Given the description of an element on the screen output the (x, y) to click on. 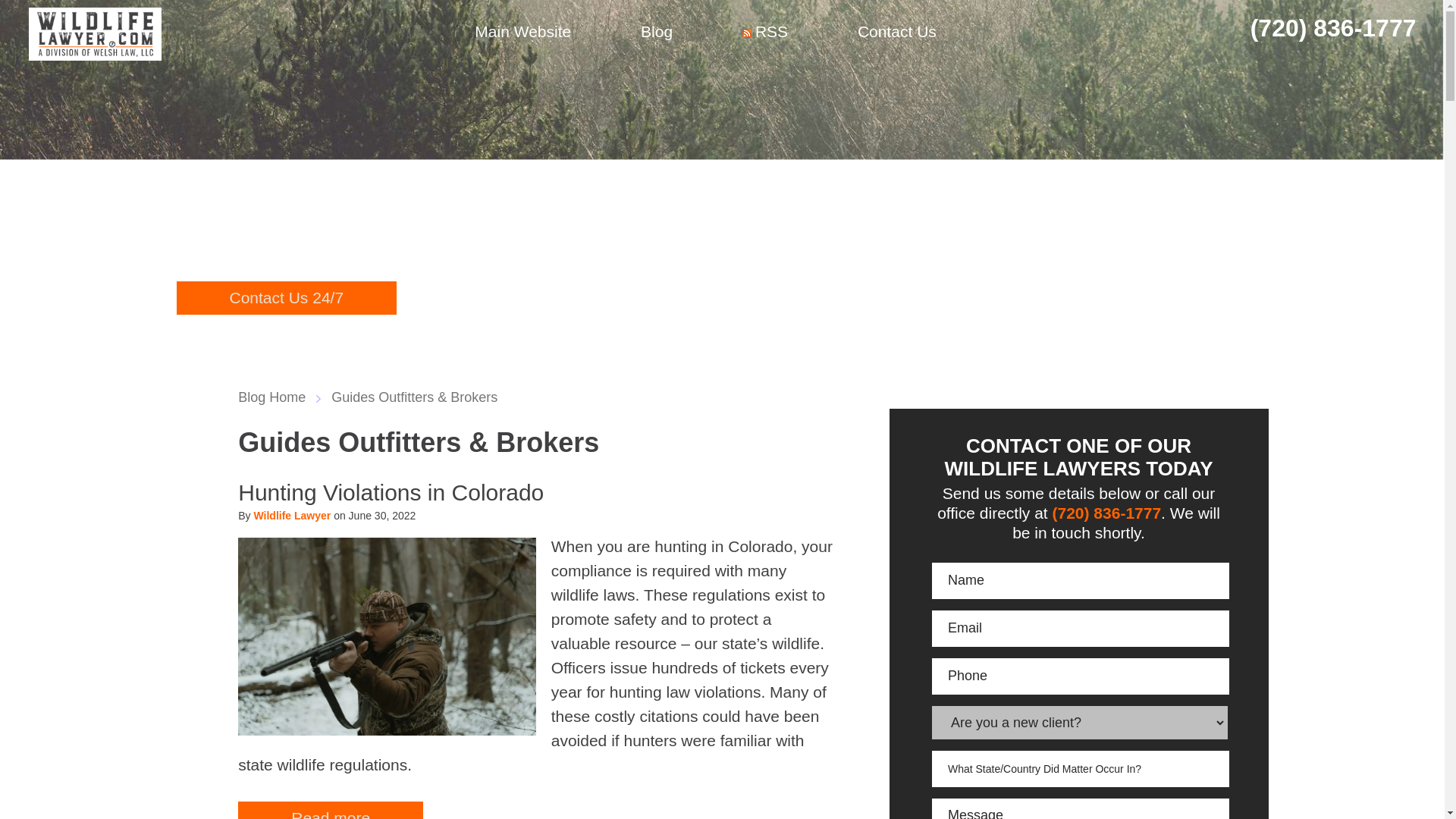
Wildlife Lawyers (95, 33)
Contact Us (897, 33)
RSS (765, 33)
Hunting Violations in Colorado (390, 491)
Blog (656, 33)
Hunting Violations in Colorado (390, 491)
Blog Home (279, 396)
Main Website (523, 33)
Read more (330, 809)
Wildlife Lawyer (291, 515)
